Given the description of an element on the screen output the (x, y) to click on. 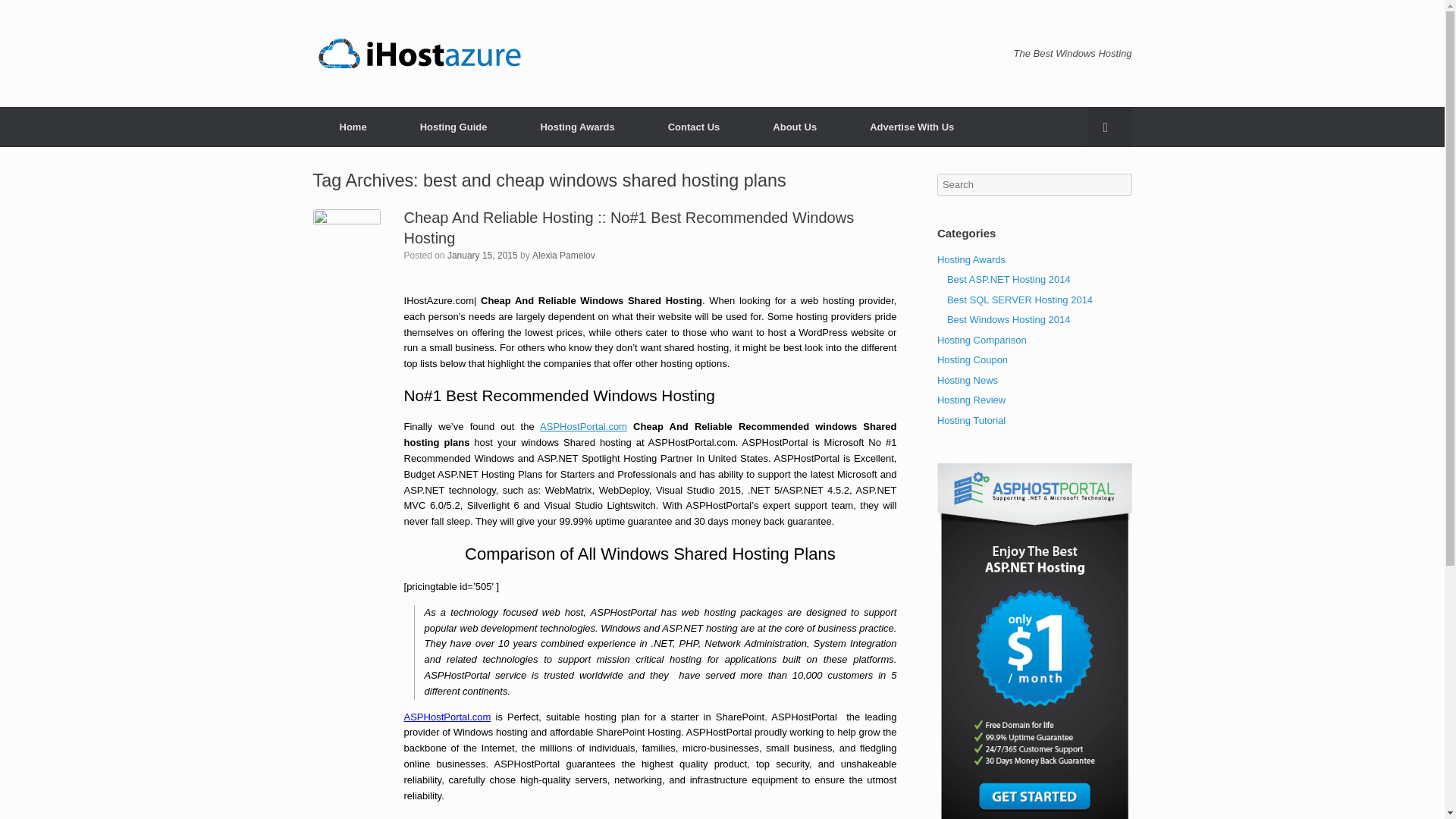
Windows ASP.NET Hosting Review (419, 53)
Hosting Guide (453, 127)
Hosting Coupon (972, 359)
Best SQL SERVER Hosting 2014 (1020, 299)
ASPHostPortal.com (583, 426)
Hosting Review (971, 399)
ASPHostPortal.com (448, 716)
About Us (794, 127)
Hosting News (967, 379)
Contact Us (694, 127)
6:00 am (482, 255)
Hosting Awards (576, 127)
Hosting Awards (971, 258)
Hosting Tutorial (971, 419)
Hosting Comparison (981, 338)
